Given the description of an element on the screen output the (x, y) to click on. 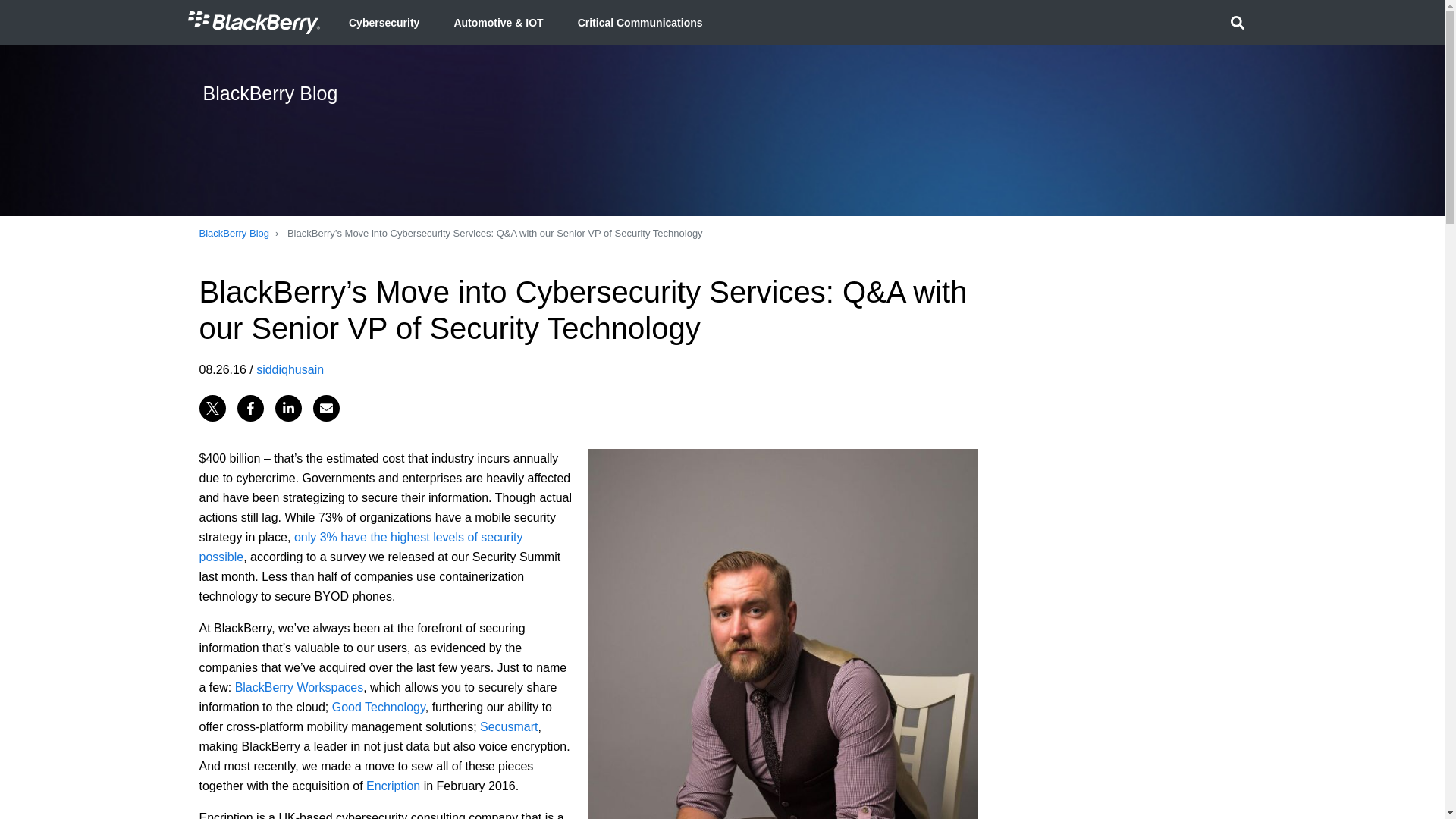
Email (326, 406)
Email (326, 406)
BlackBerry Blog (232, 233)
Share on LinkedIn (288, 406)
Share on Facebook (249, 406)
Share on Facebook (249, 406)
Secusmart (508, 726)
Share on X (211, 406)
Good Technology (378, 707)
Encription (393, 785)
BlackBerry Logo (253, 22)
Share on X (211, 406)
BlackBerry Logo (253, 22)
siddiqhusain (289, 368)
BlackBerry Workspaces (299, 686)
